Given the description of an element on the screen output the (x, y) to click on. 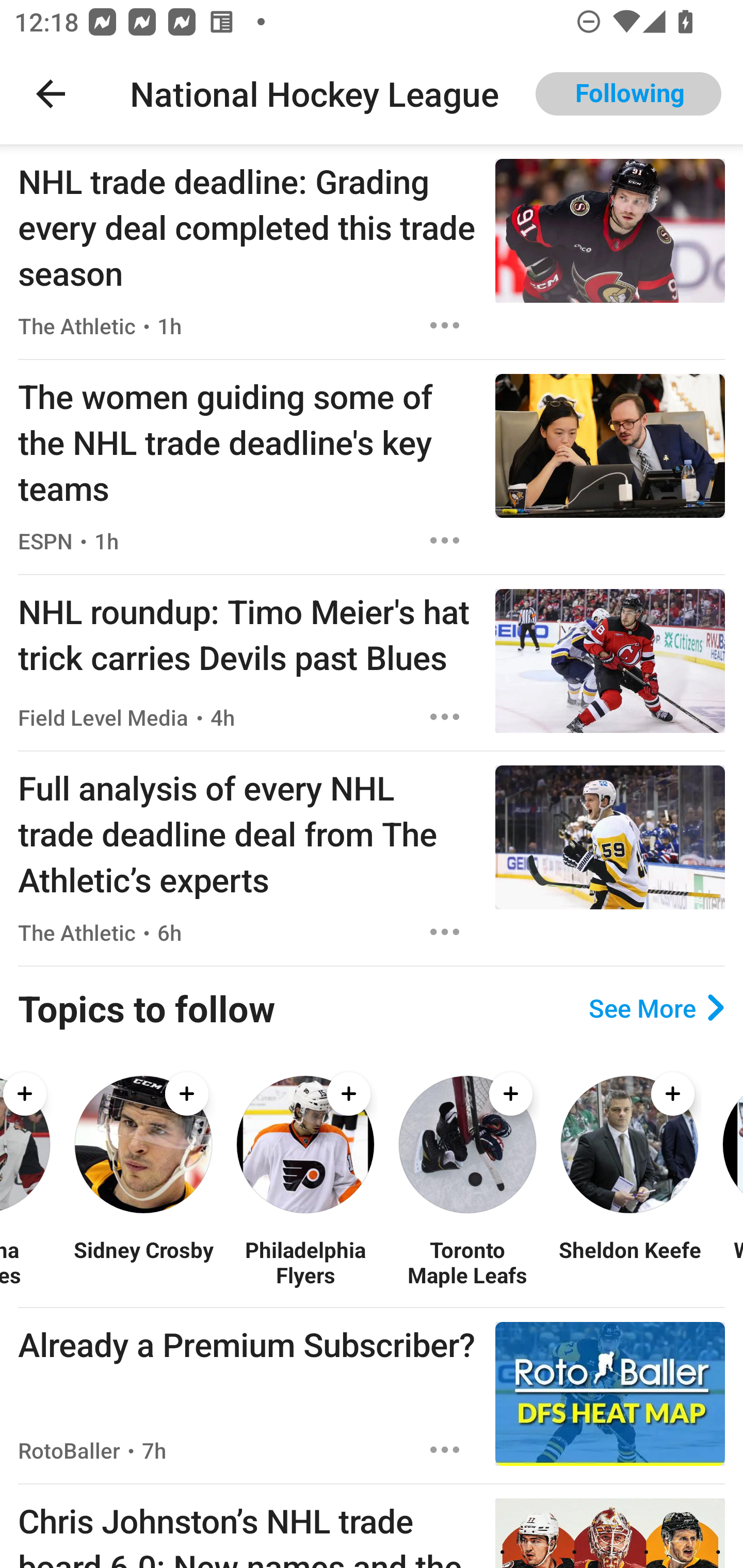
Navigate up (50, 93)
Following (628, 94)
Options (444, 325)
Options (444, 540)
Options (444, 716)
Options (444, 932)
See More (656, 1007)
Sidney Crosby (143, 1261)
Philadelphia Flyers (305, 1261)
Toronto Maple Leafs (467, 1261)
Sheldon Keefe (629, 1261)
Options (444, 1449)
